Given the description of an element on the screen output the (x, y) to click on. 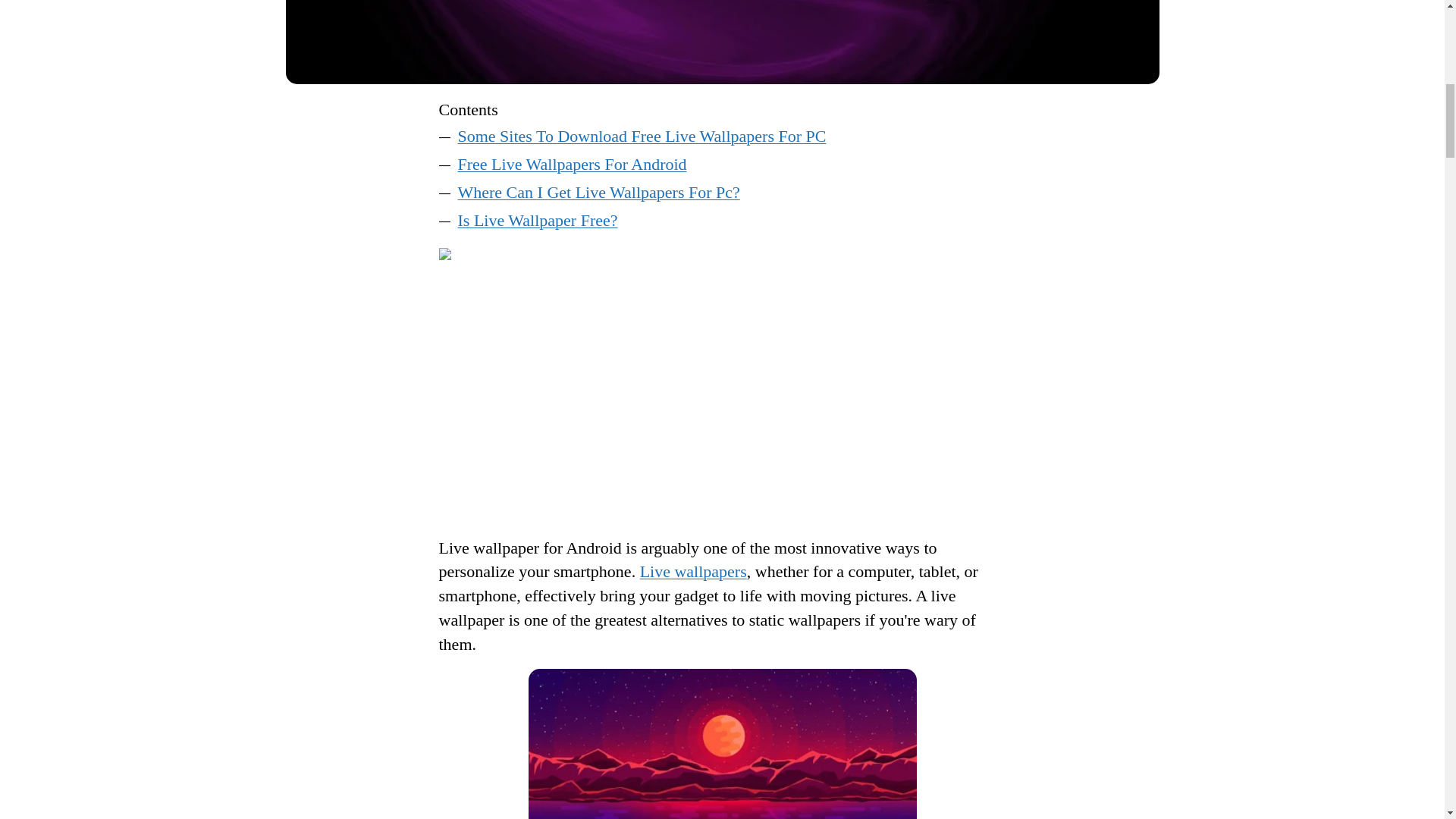
Some Sites To Download Free Live Wallpapers For PC (642, 135)
Where Can I Get Live Wallpapers For Pc? (598, 191)
Free Live Wallpapers For Android (572, 163)
Is Live Wallpaper Free? (537, 220)
Live wallpapers (693, 570)
